Given the description of an element on the screen output the (x, y) to click on. 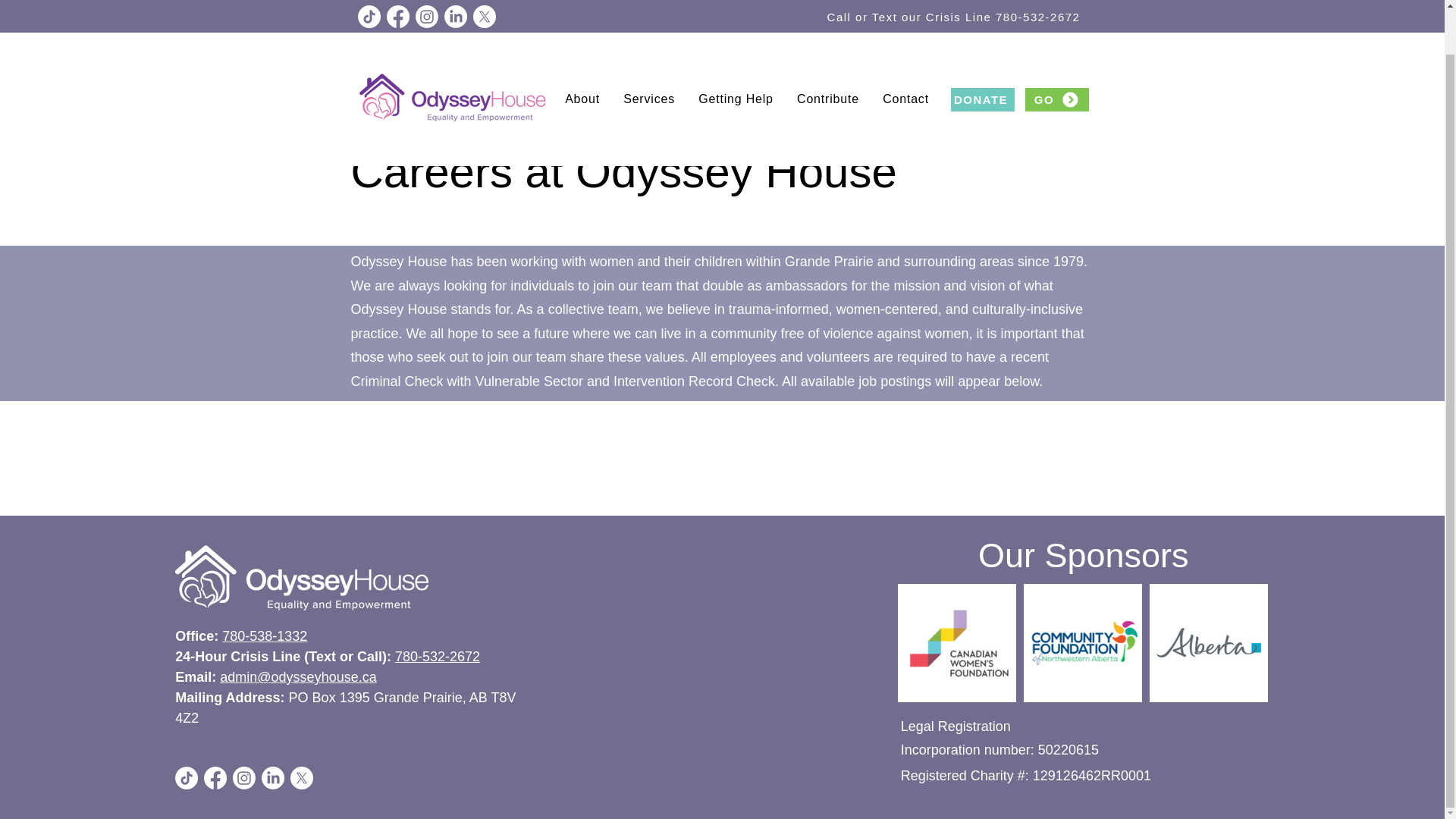
780-538-1332 (264, 635)
Contact (906, 51)
780-532-2672 (437, 656)
GO (1057, 52)
DONATE (982, 52)
